Given the description of an element on the screen output the (x, y) to click on. 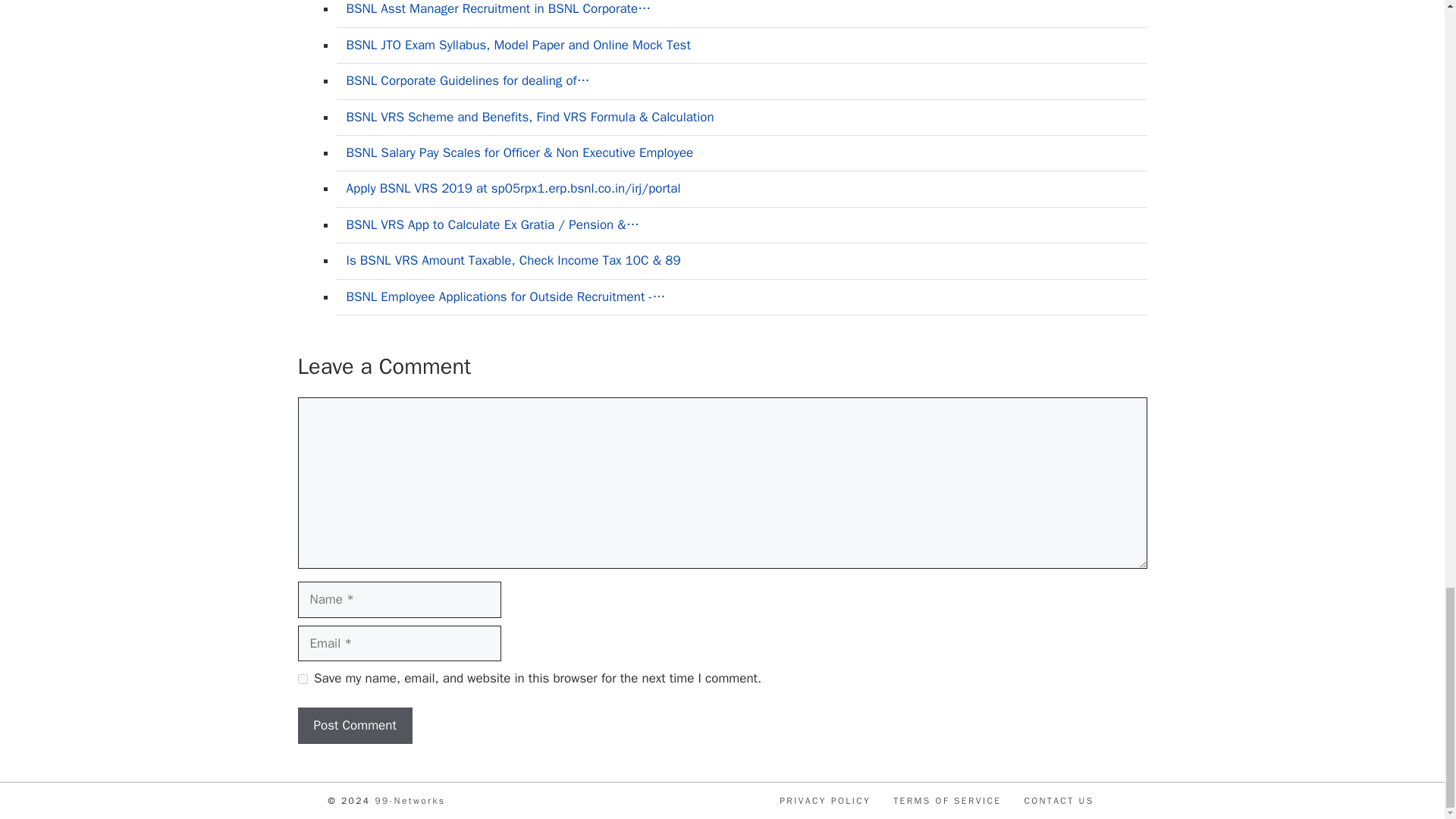
BSNL JTO Exam Syllabus, Model Paper and Online Mock Test (518, 44)
PRIVACY POLICY (824, 800)
99-Networks (409, 800)
Post Comment (354, 725)
Post Comment (354, 725)
CONTACT US (1058, 800)
TERMS OF SERVICE (947, 800)
yes (302, 678)
